Given the description of an element on the screen output the (x, y) to click on. 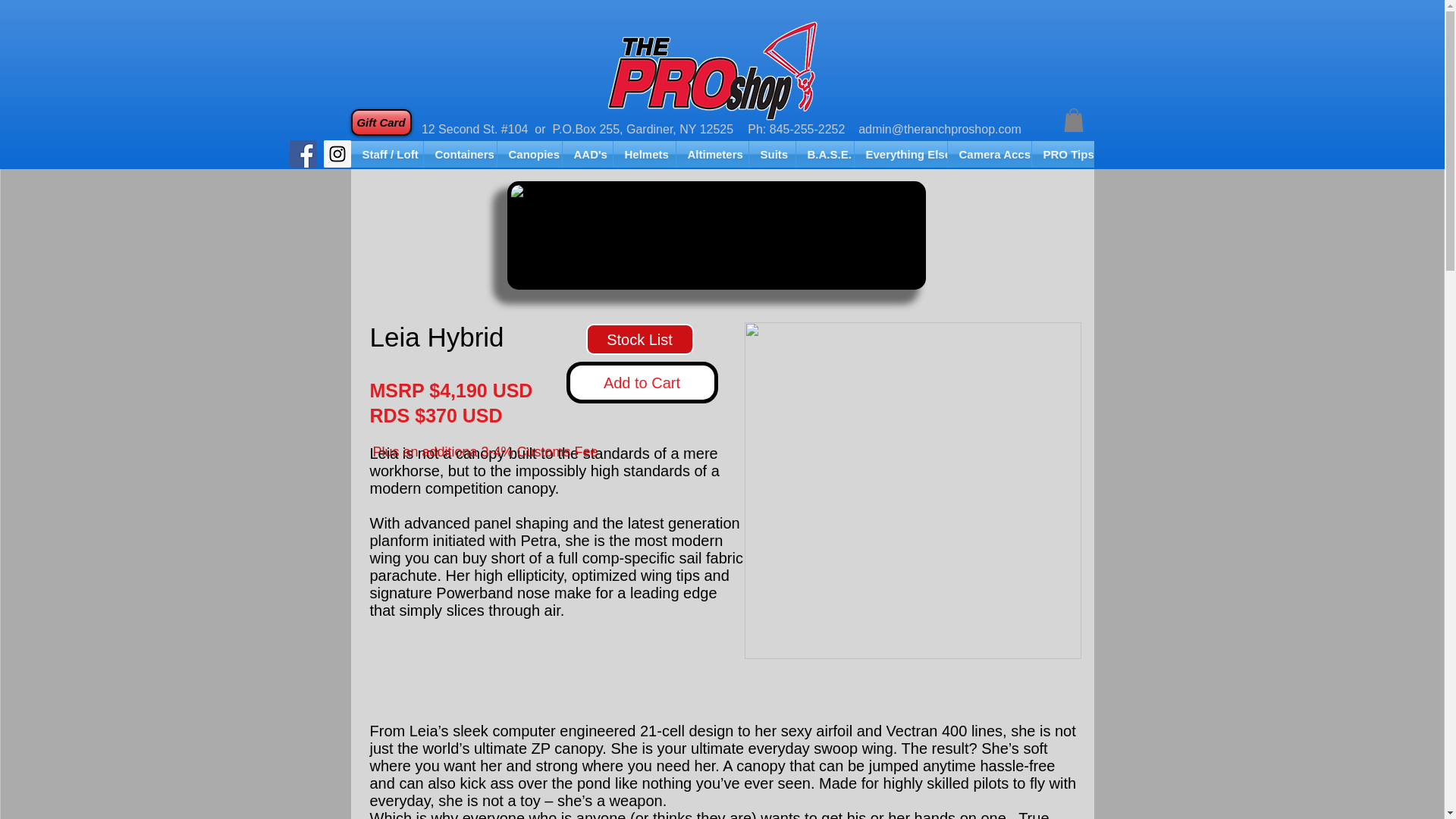
B.A.S.E. (824, 153)
Stock List (639, 338)
Helmets (643, 153)
Containers (459, 153)
Canopies (529, 153)
Camera Accs. (988, 153)
Gift Card (380, 121)
AAD's (587, 153)
Altimeters (712, 153)
PRO Tips (1061, 153)
